Given the description of an element on the screen output the (x, y) to click on. 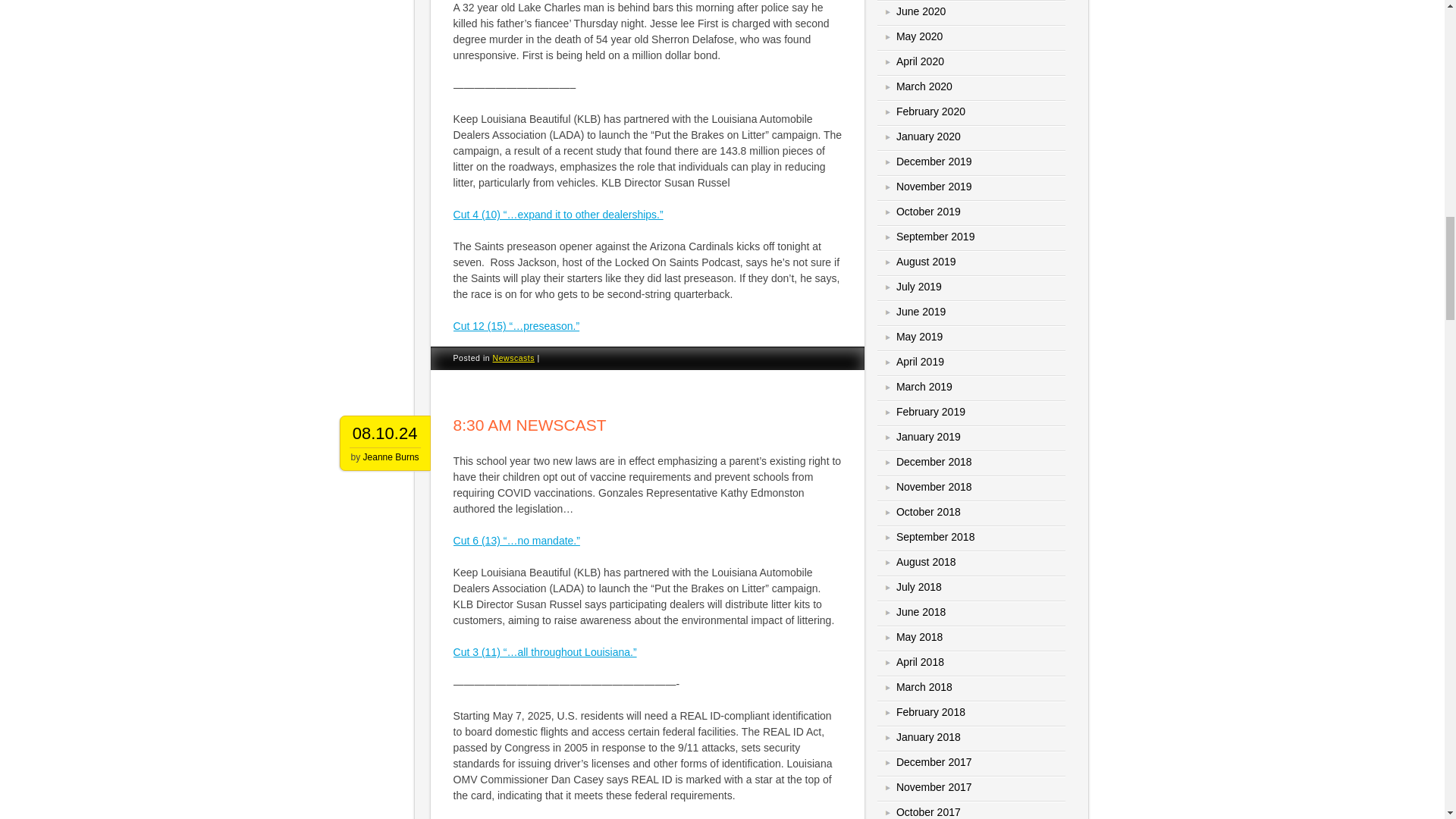
Jeanne Burns (390, 457)
Permalink to 8:30 am Newscast (529, 425)
Newscasts (514, 357)
View all posts by Jeanne Burns (390, 457)
08.10.24 (384, 433)
8:30 AM NEWSCAST (529, 425)
View all posts in Newscasts (514, 357)
